Given the description of an element on the screen output the (x, y) to click on. 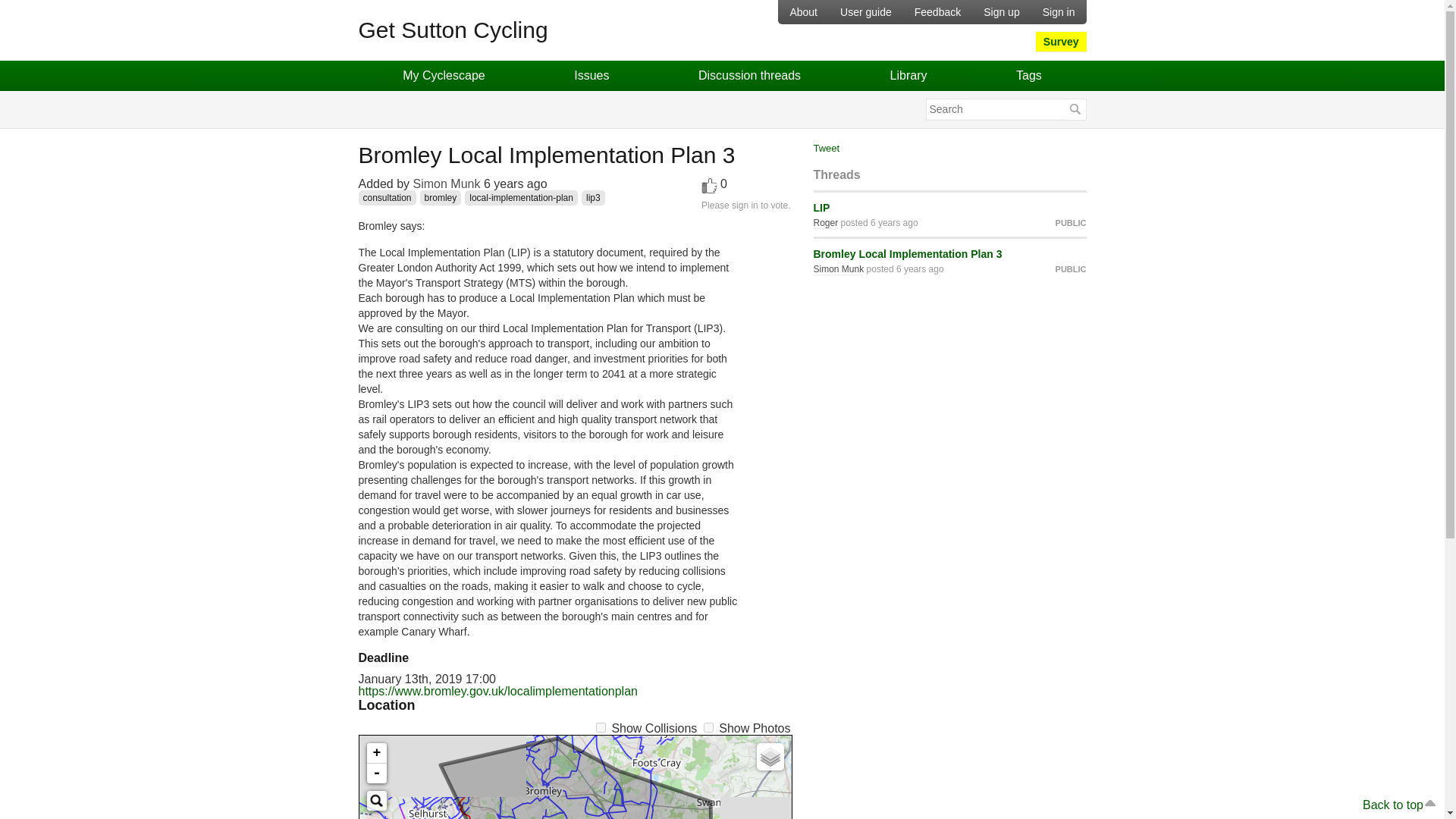
Bromley Local Implementation Plan 3 (906, 254)
Survey (1060, 41)
Reusable resources for campaigning (908, 75)
local-implementation-plan (521, 197)
1 (600, 727)
Zoom out (376, 772)
sign in (745, 204)
1 (708, 727)
User guide (865, 11)
Tweet (826, 147)
